Given the description of an element on the screen output the (x, y) to click on. 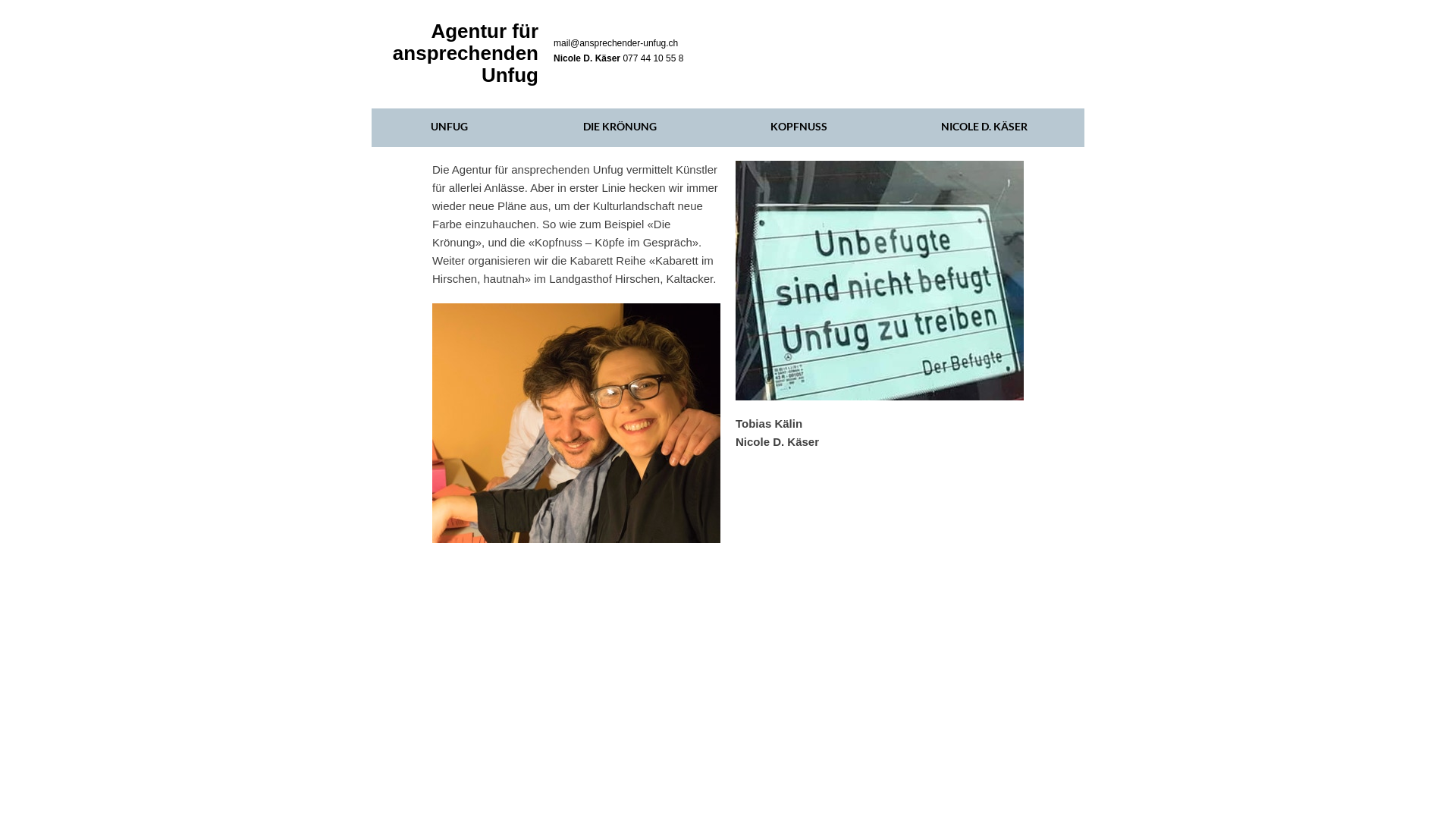
mail@ansprechender-unfug.ch Element type: text (615, 42)
